Given the description of an element on the screen output the (x, y) to click on. 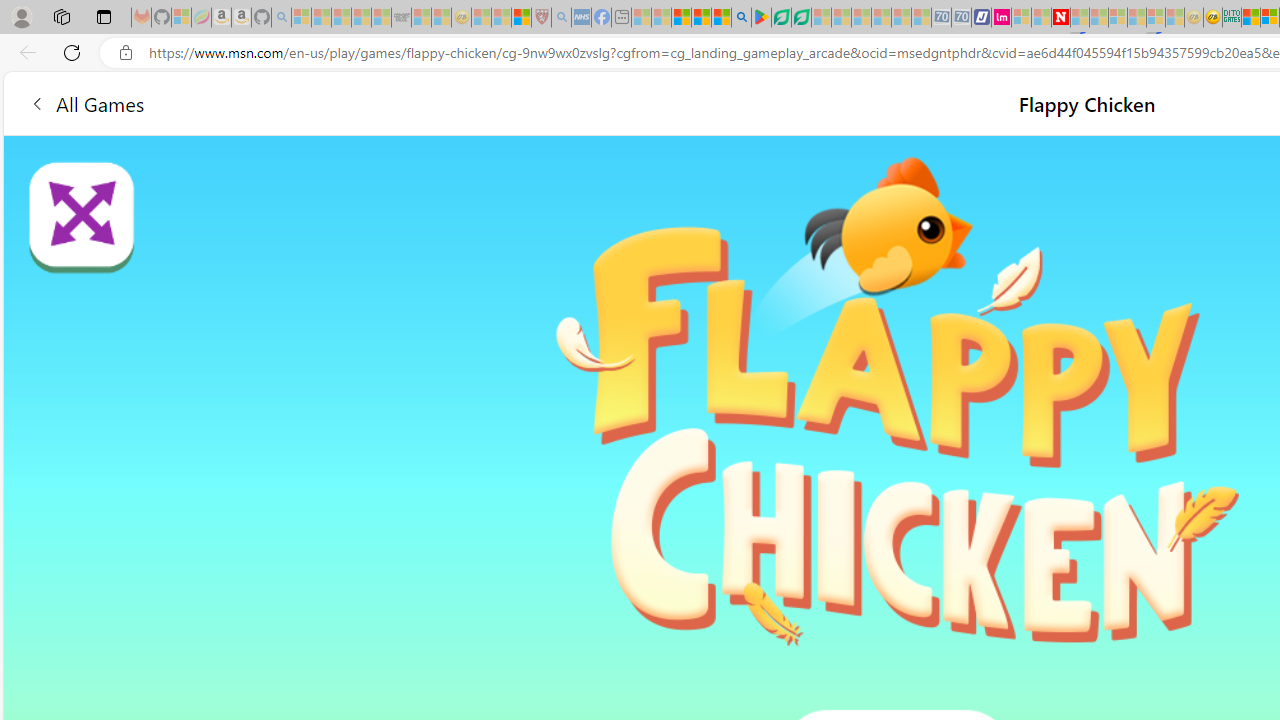
Local - MSN (521, 17)
